Given the description of an element on the screen output the (x, y) to click on. 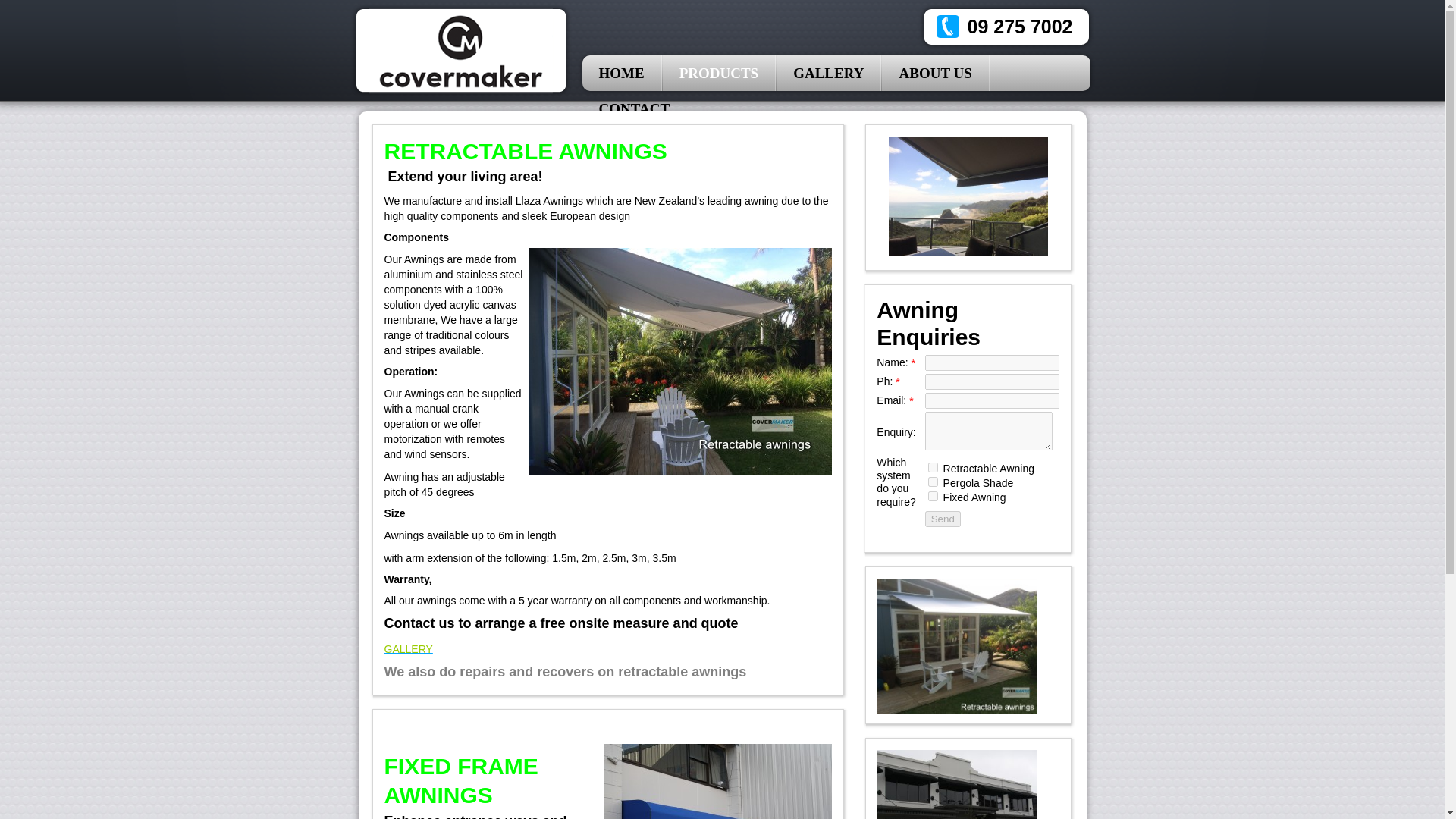
Pergola Shade (932, 481)
Retractable Awning (932, 467)
Send (942, 519)
PRODUCTS (719, 72)
Fixed Awning (932, 496)
Awning Gallery (408, 648)
Covermaker Limited (460, 50)
HOME (622, 72)
GALLERY (829, 72)
